Given the description of an element on the screen output the (x, y) to click on. 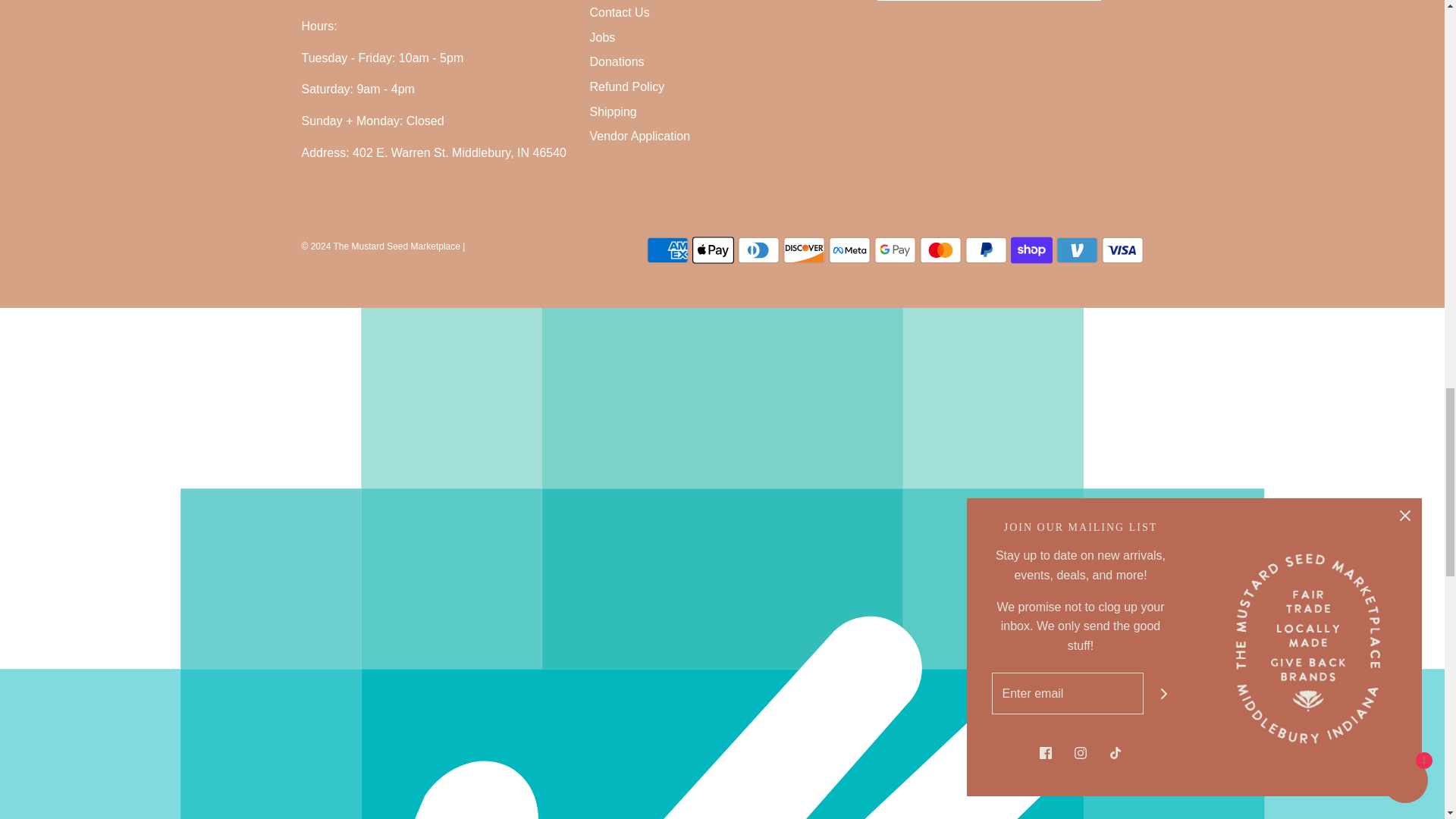
Apple Pay (712, 250)
Discover (803, 250)
Meta Pay (848, 250)
American Express (666, 250)
Diners Club (757, 250)
Google Pay (894, 250)
